Given the description of an element on the screen output the (x, y) to click on. 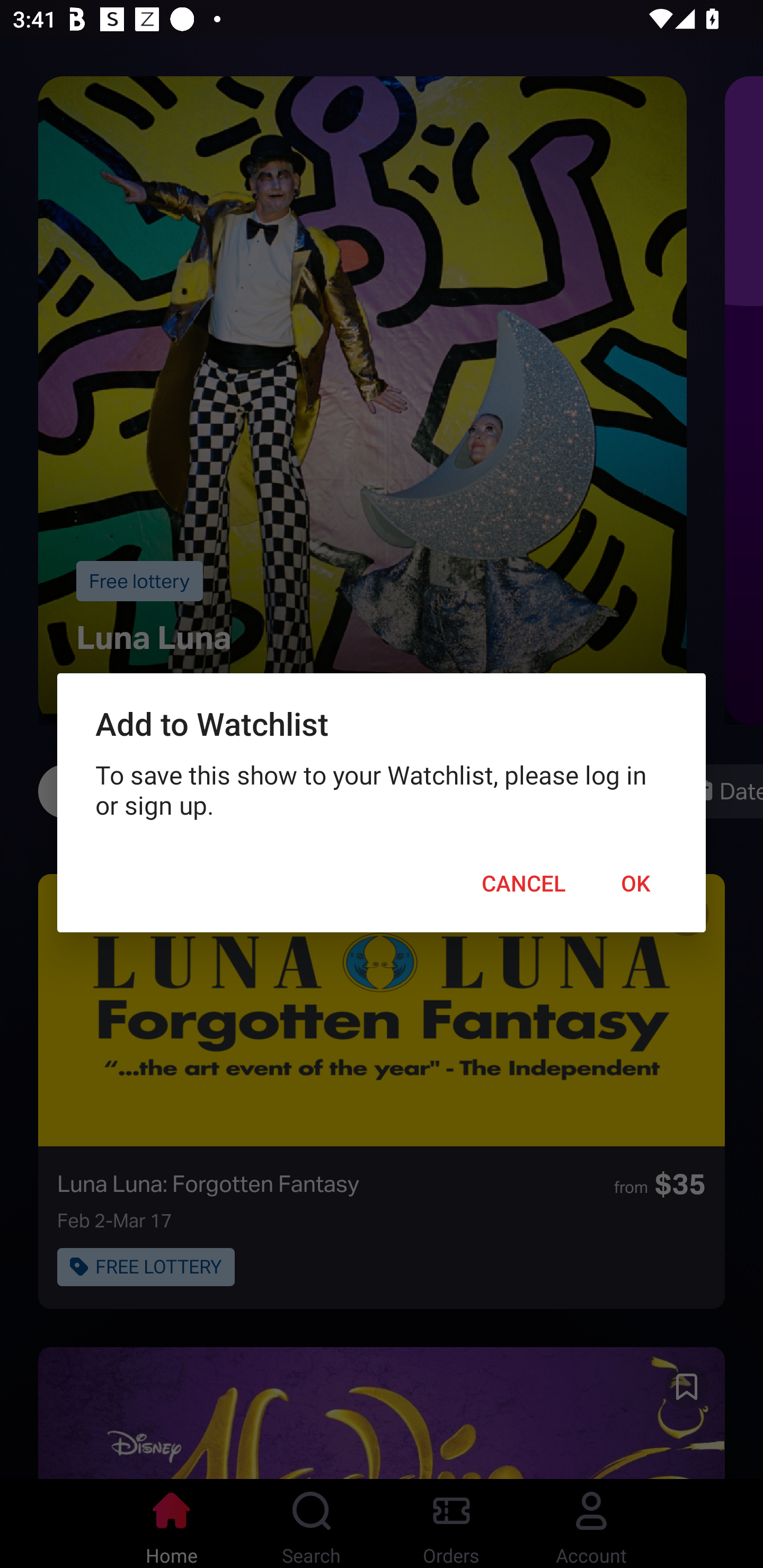
CANCEL (523, 883)
OK (635, 883)
